Given the description of an element on the screen output the (x, y) to click on. 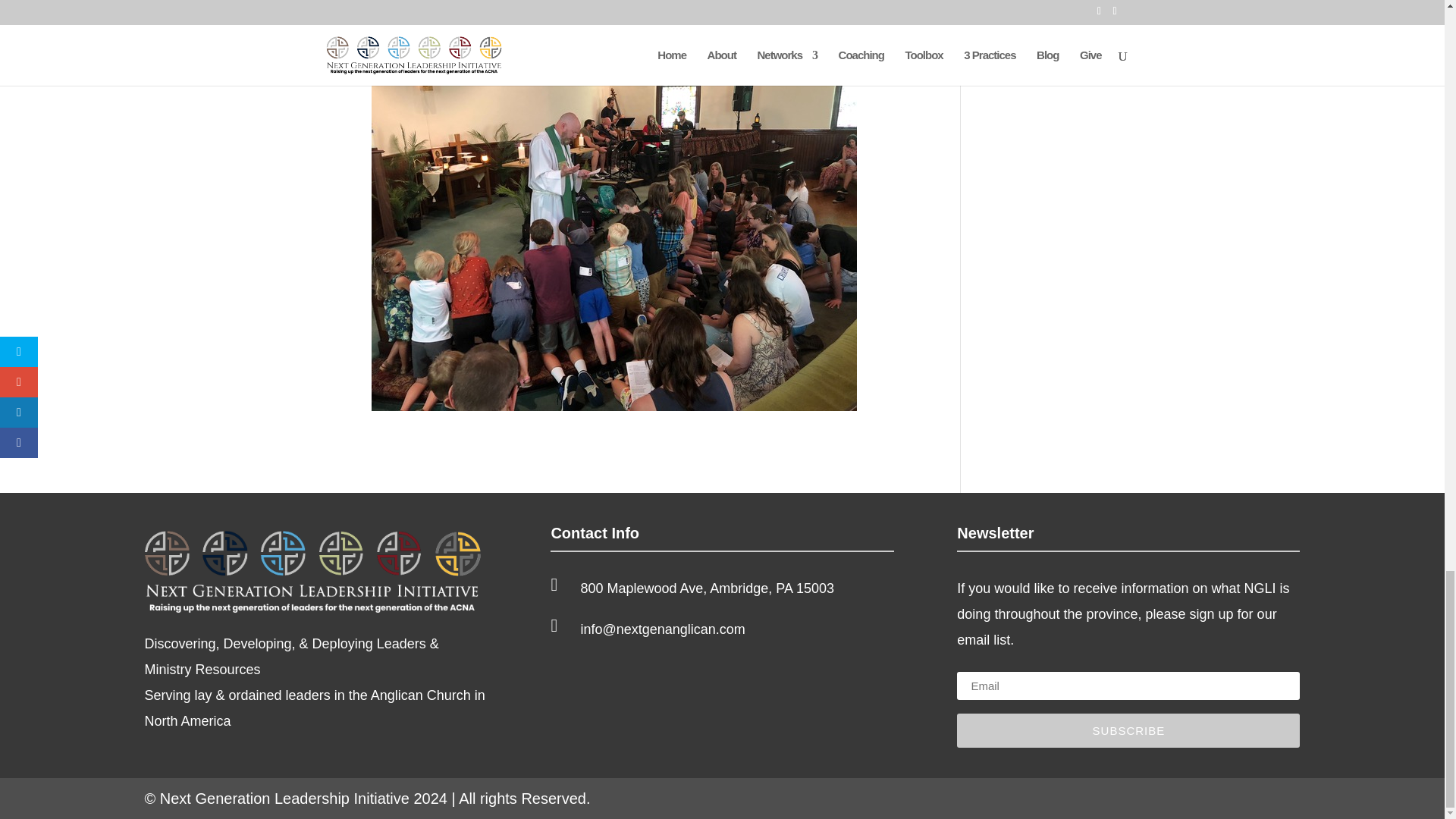
NGLI logo2 (315, 569)
